Given the description of an element on the screen output the (x, y) to click on. 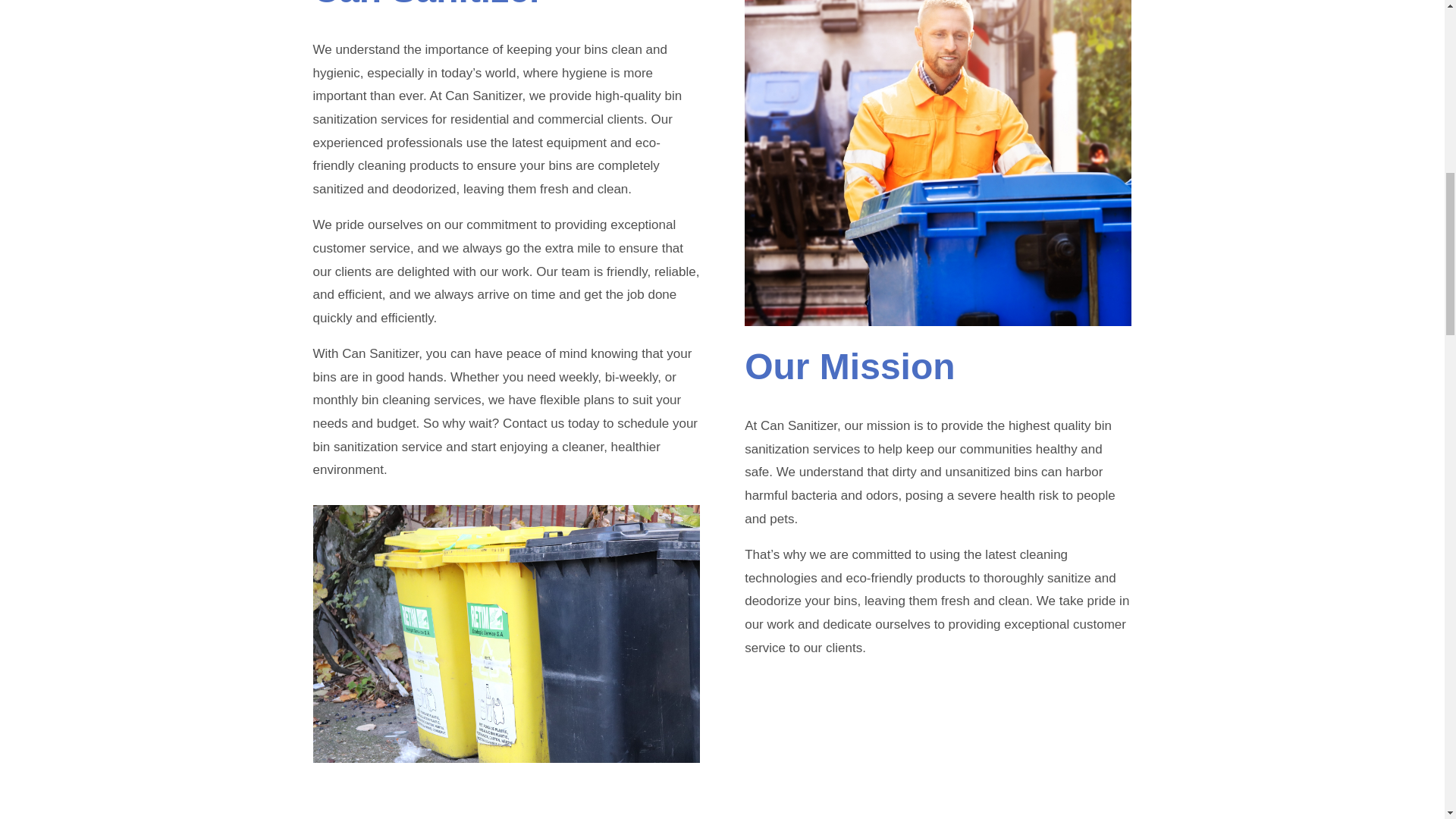
502833694 (937, 162)
